Given the description of an element on the screen output the (x, y) to click on. 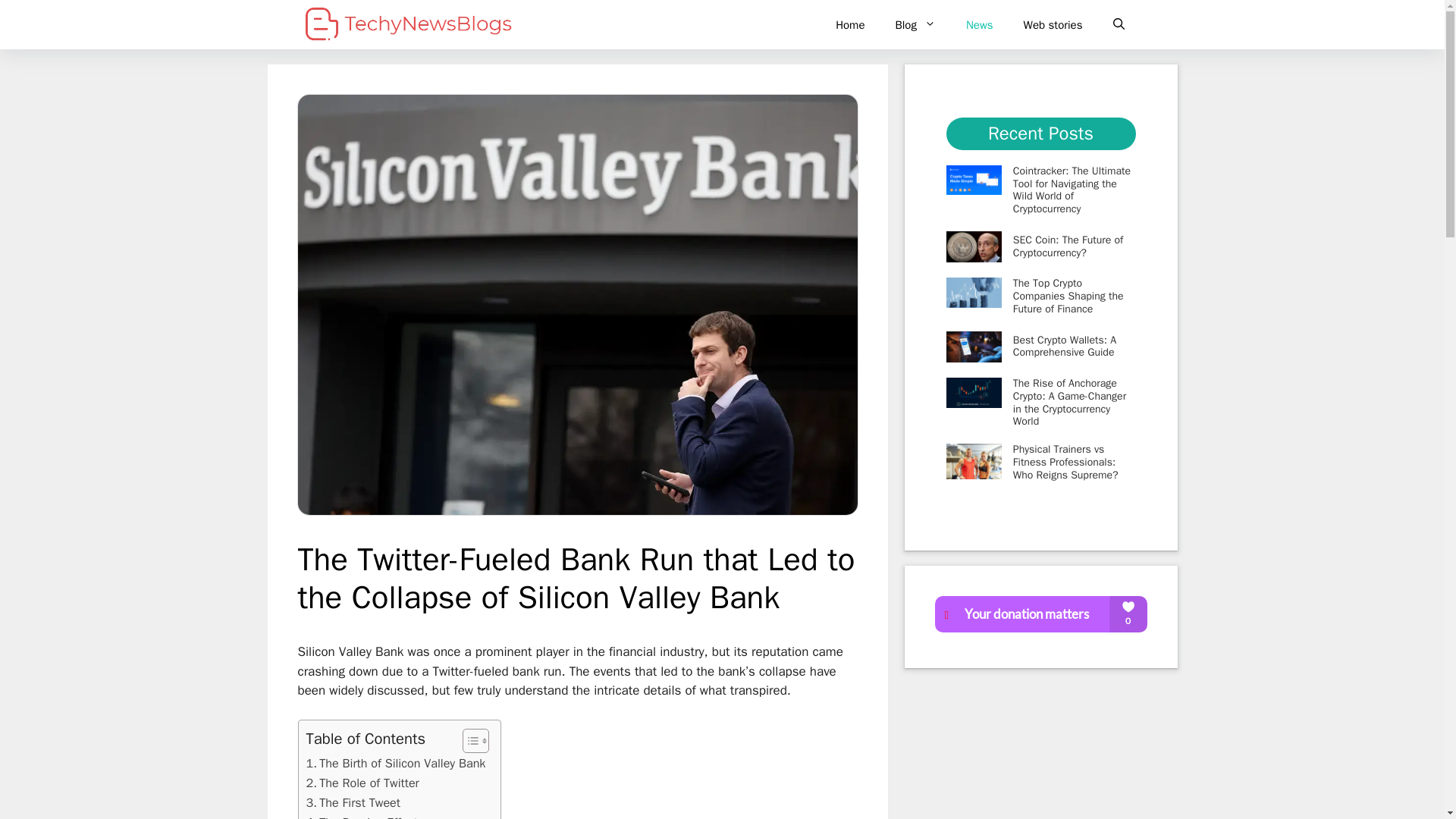
The Domino Effect (361, 816)
Blog (914, 23)
The First Tweet (352, 803)
The First Tweet (352, 803)
TechyNewsBlogs (408, 24)
The Role of Twitter (362, 783)
Home (850, 23)
Best Crypto Wallets: A Comprehensive Guide (1064, 346)
The Top Crypto Companies Shaping the Future of Finance (1068, 295)
